Given the description of an element on the screen output the (x, y) to click on. 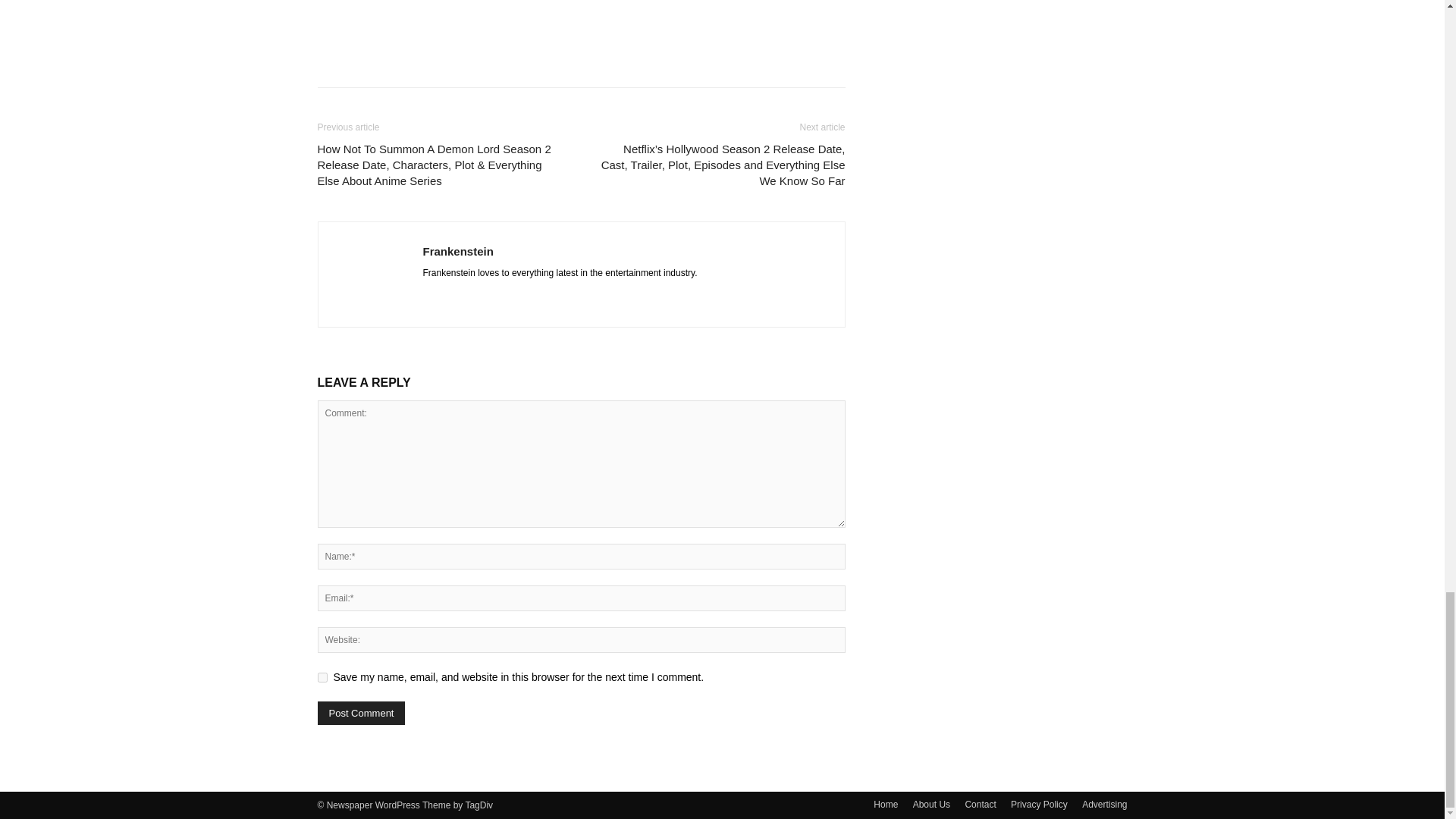
Post Comment (360, 712)
yes (321, 677)
Post Comment (360, 712)
Frankenstein (458, 250)
